Given the description of an element on the screen output the (x, y) to click on. 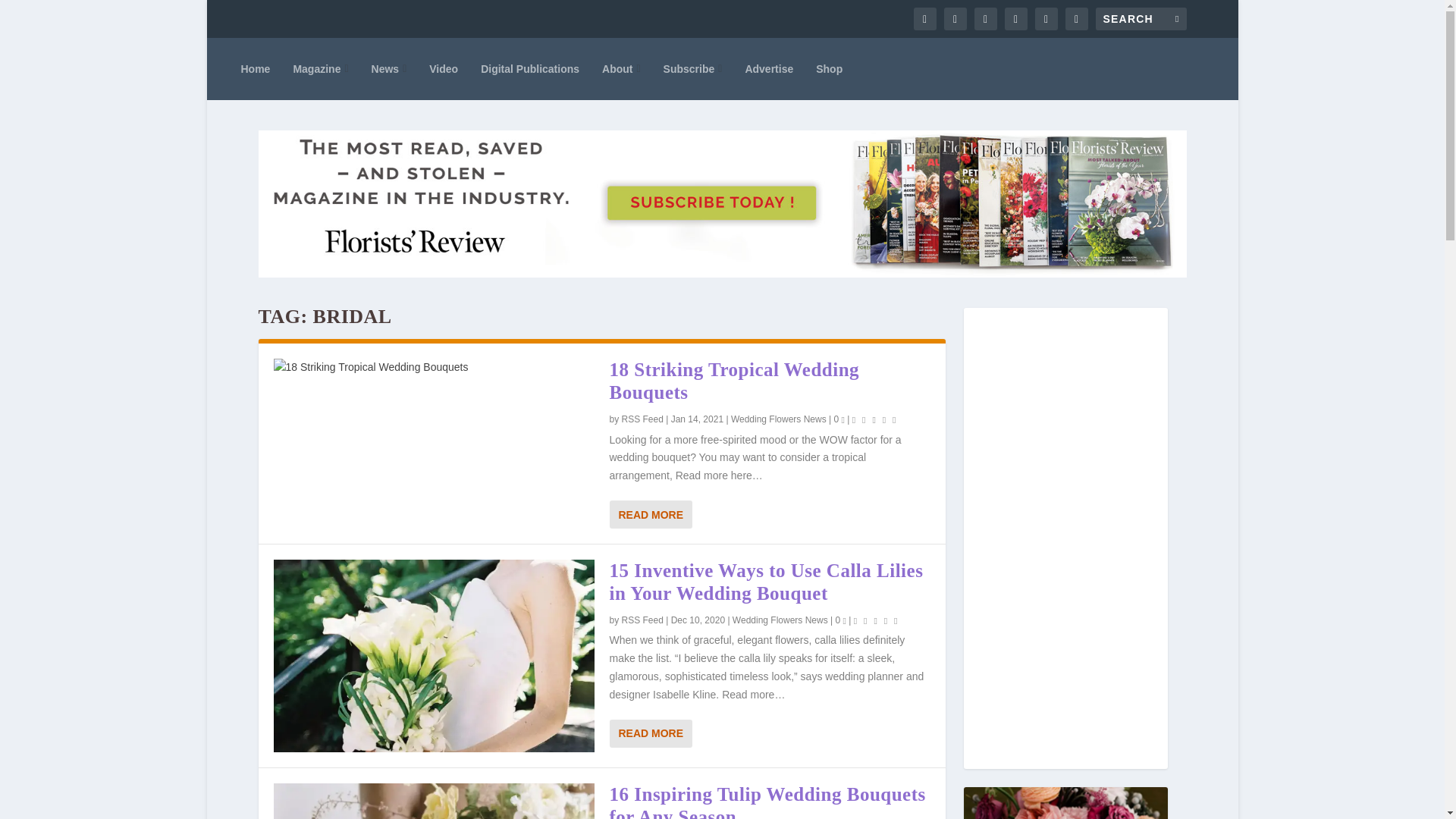
comment count (842, 419)
Posts by RSS Feed (642, 419)
Digital Publications (529, 68)
About (621, 68)
Home (255, 68)
Rating: 0.00 (875, 418)
Posts by RSS Feed (642, 620)
18 Striking Tropical Wedding Bouquets (433, 367)
Video (443, 68)
comment count (844, 620)
Magazine (319, 68)
Rating: 0.00 (877, 620)
News (389, 68)
